Given the description of an element on the screen output the (x, y) to click on. 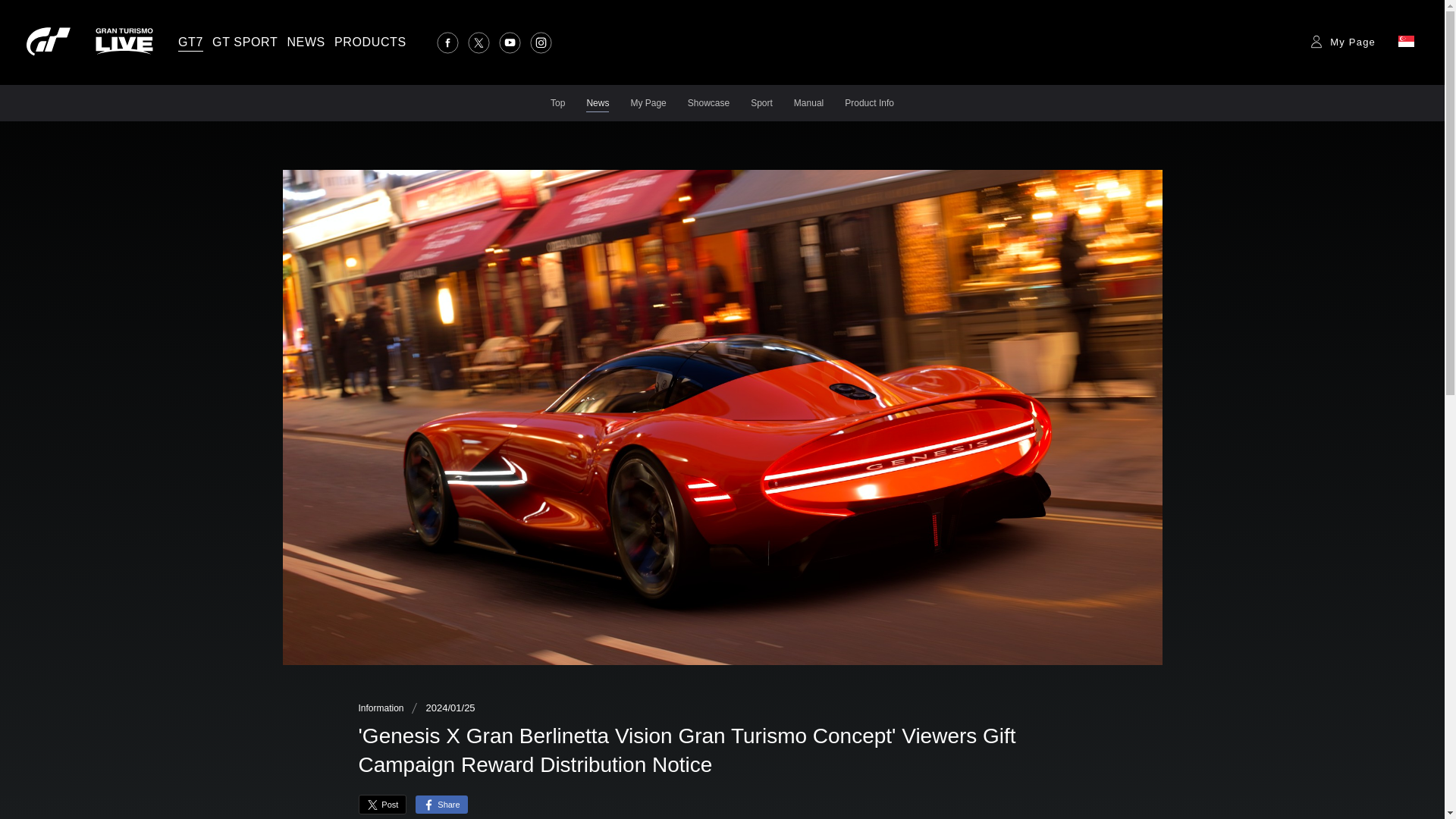
Manual (808, 104)
News (597, 104)
My Page (1341, 41)
Tweet (382, 804)
Product Info (868, 104)
NEWS (305, 42)
My Page (647, 104)
PRODUCTS (370, 42)
Showcase (708, 104)
GT SPORT (245, 42)
Post (382, 804)
GT7 (190, 42)
Top (557, 104)
Sport (762, 104)
Share (440, 804)
